Given the description of an element on the screen output the (x, y) to click on. 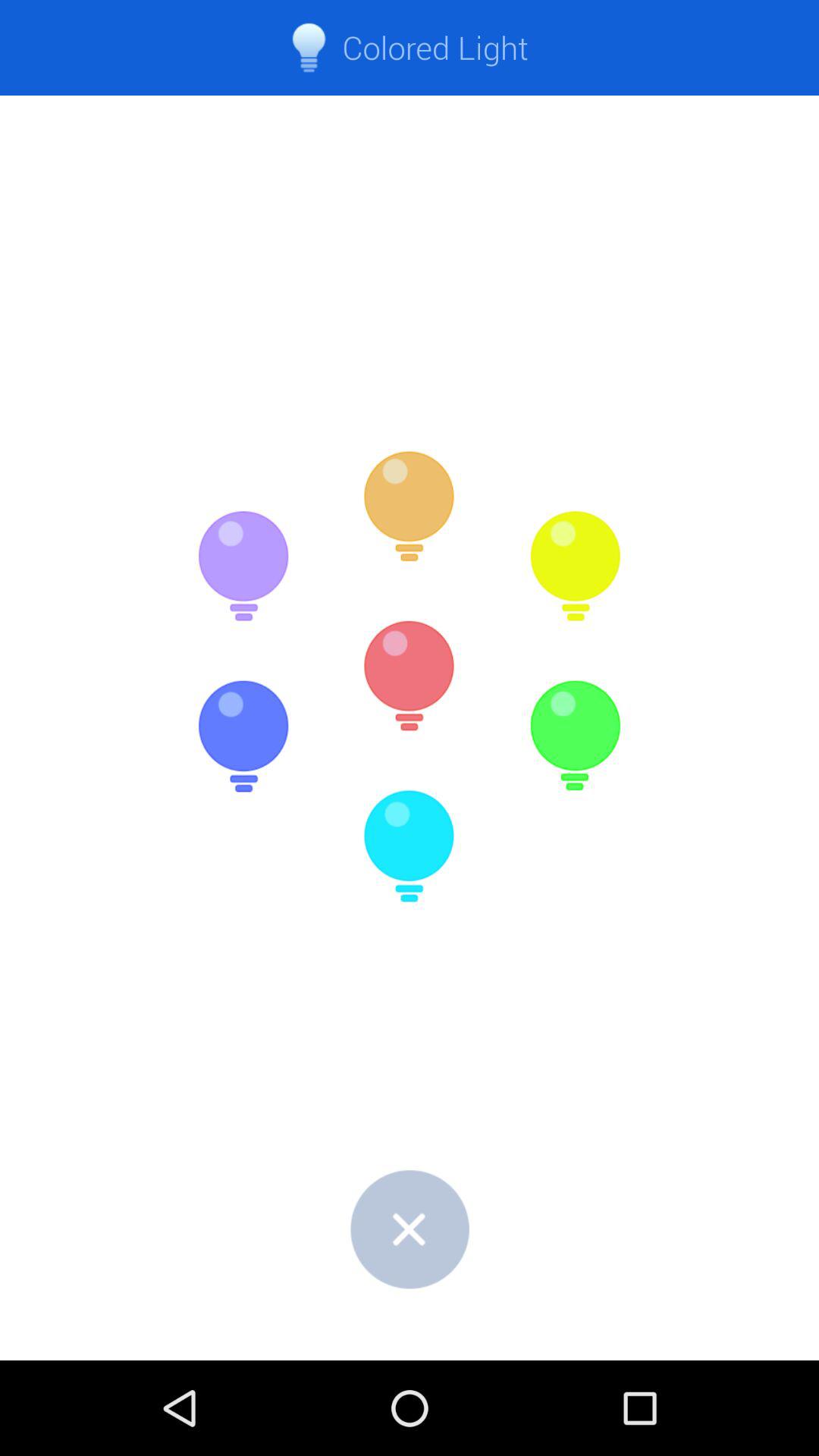
select dark blue colored light (243, 735)
